Given the description of an element on the screen output the (x, y) to click on. 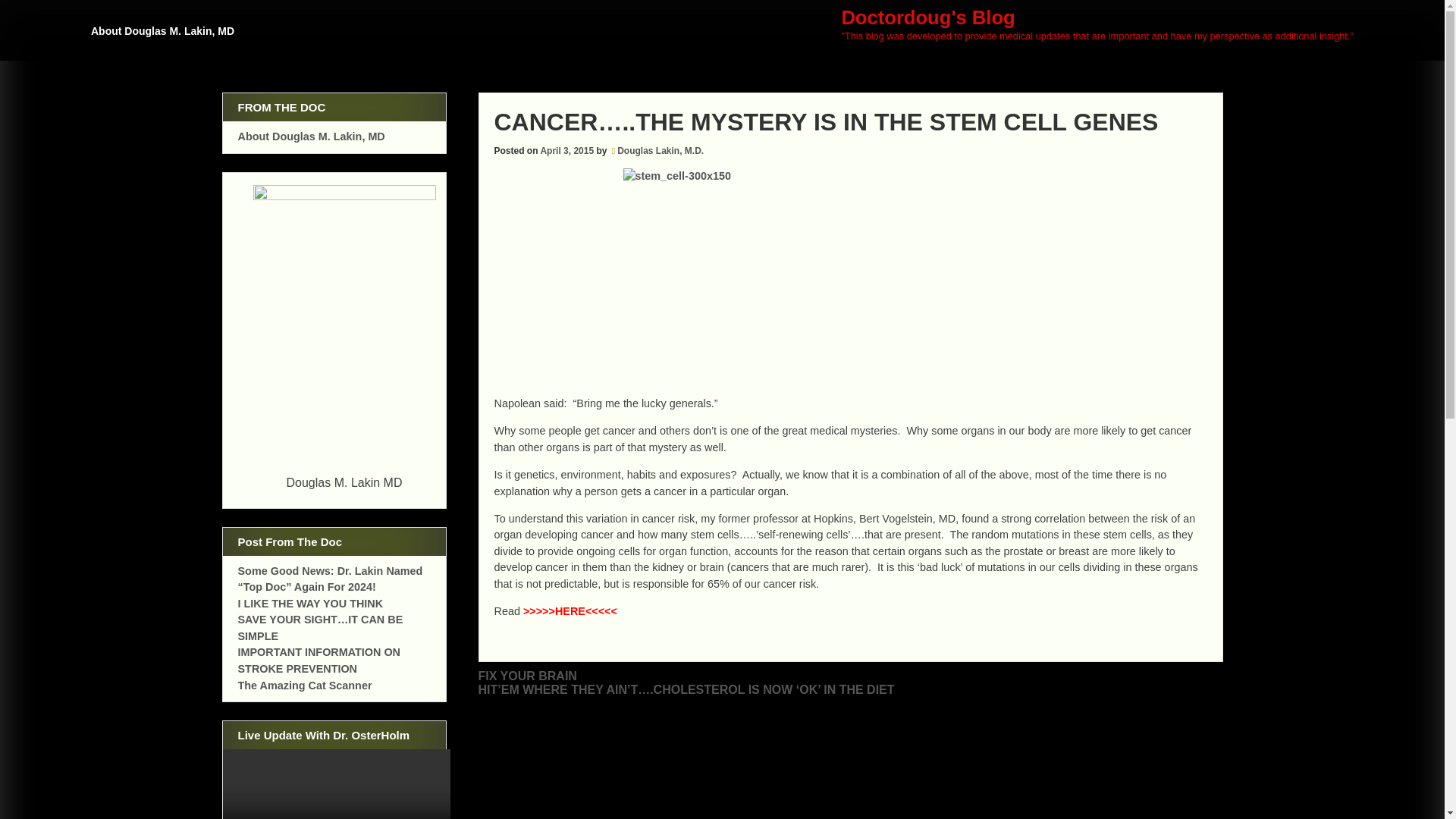
April 3, 2015 (567, 150)
The Amazing Cat Scanner (305, 685)
Doctordoug's Blog (927, 16)
CANCER RISK...VOGELSTEIN (569, 611)
I LIKE THE WAY YOU THINK (311, 603)
Douglas Lakin, M.D. (660, 150)
About Douglas M. Lakin, MD (311, 136)
FIX YOUR BRAIN (526, 675)
About Douglas M. Lakin, MD (165, 37)
IMPORTANT INFORMATION ON STROKE PREVENTION (319, 660)
